Given the description of an element on the screen output the (x, y) to click on. 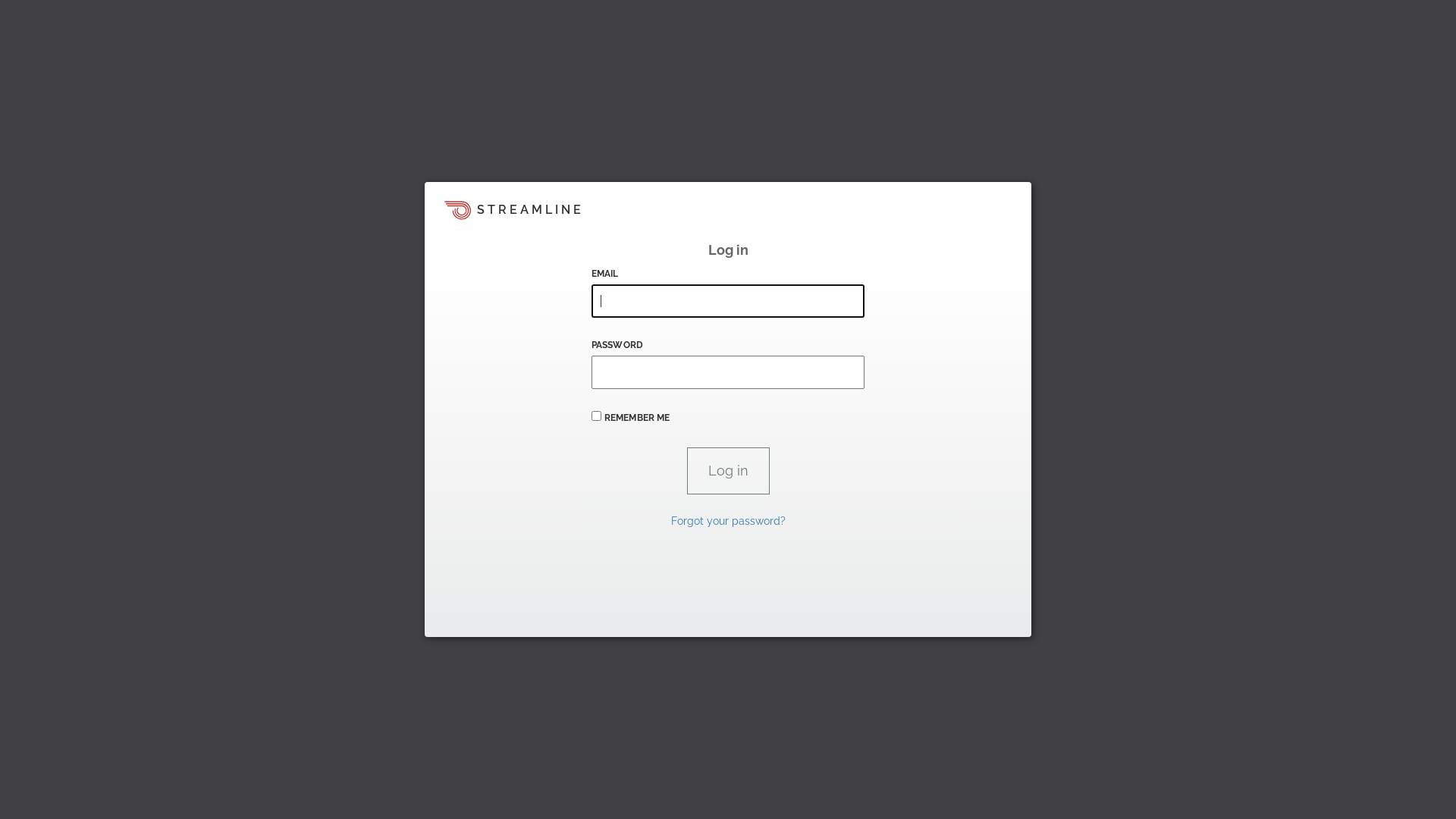
Log in Element type: text (728, 470)
Forgot your password? Element type: text (727, 520)
